Given the description of an element on the screen output the (x, y) to click on. 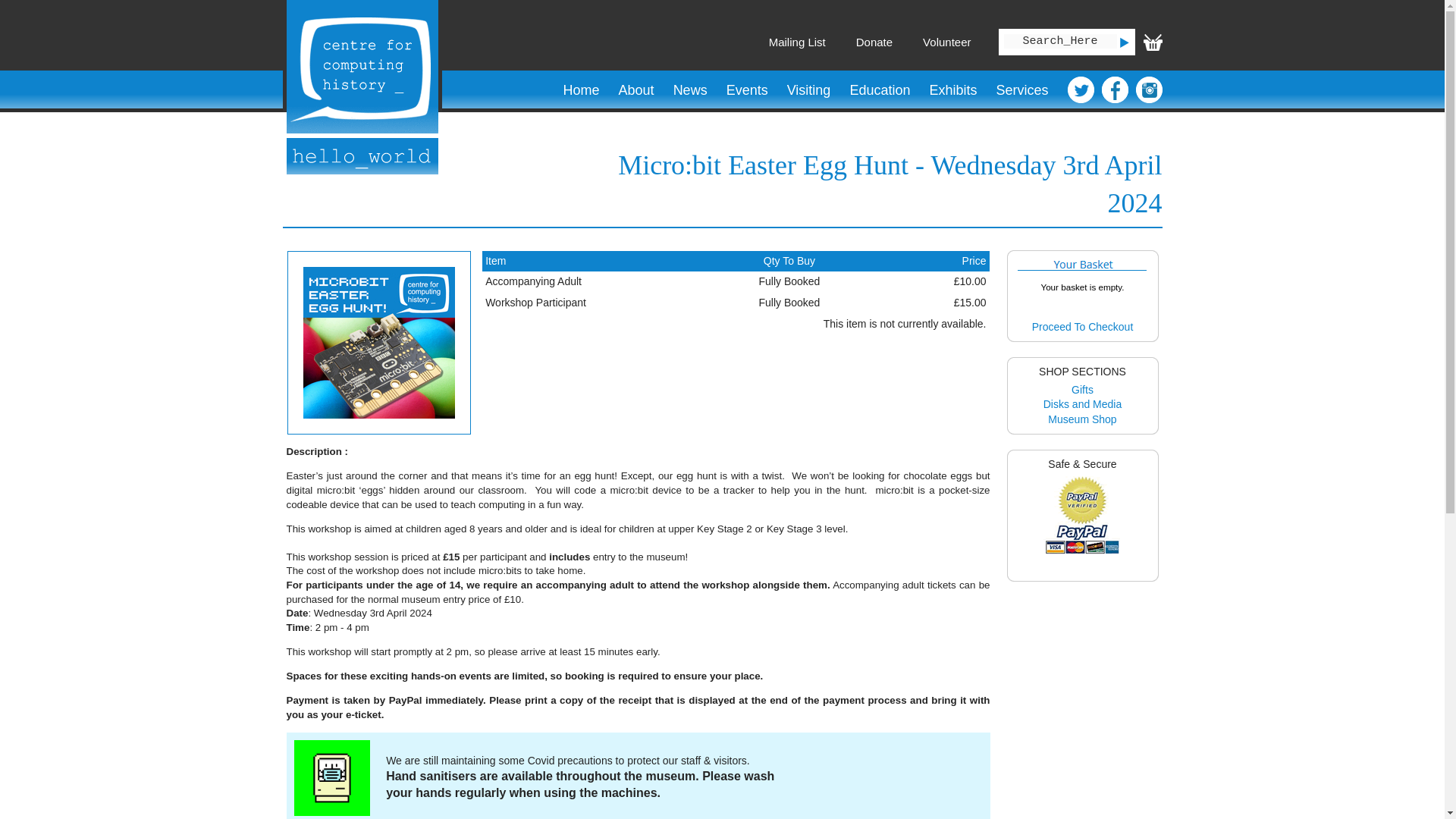
Home (581, 90)
News (690, 90)
Education (879, 90)
Events (746, 90)
About (636, 90)
Donate (874, 42)
Exhibits (951, 90)
Visiting (808, 90)
Volunteer (947, 42)
Mailing List (796, 42)
